Given the description of an element on the screen output the (x, y) to click on. 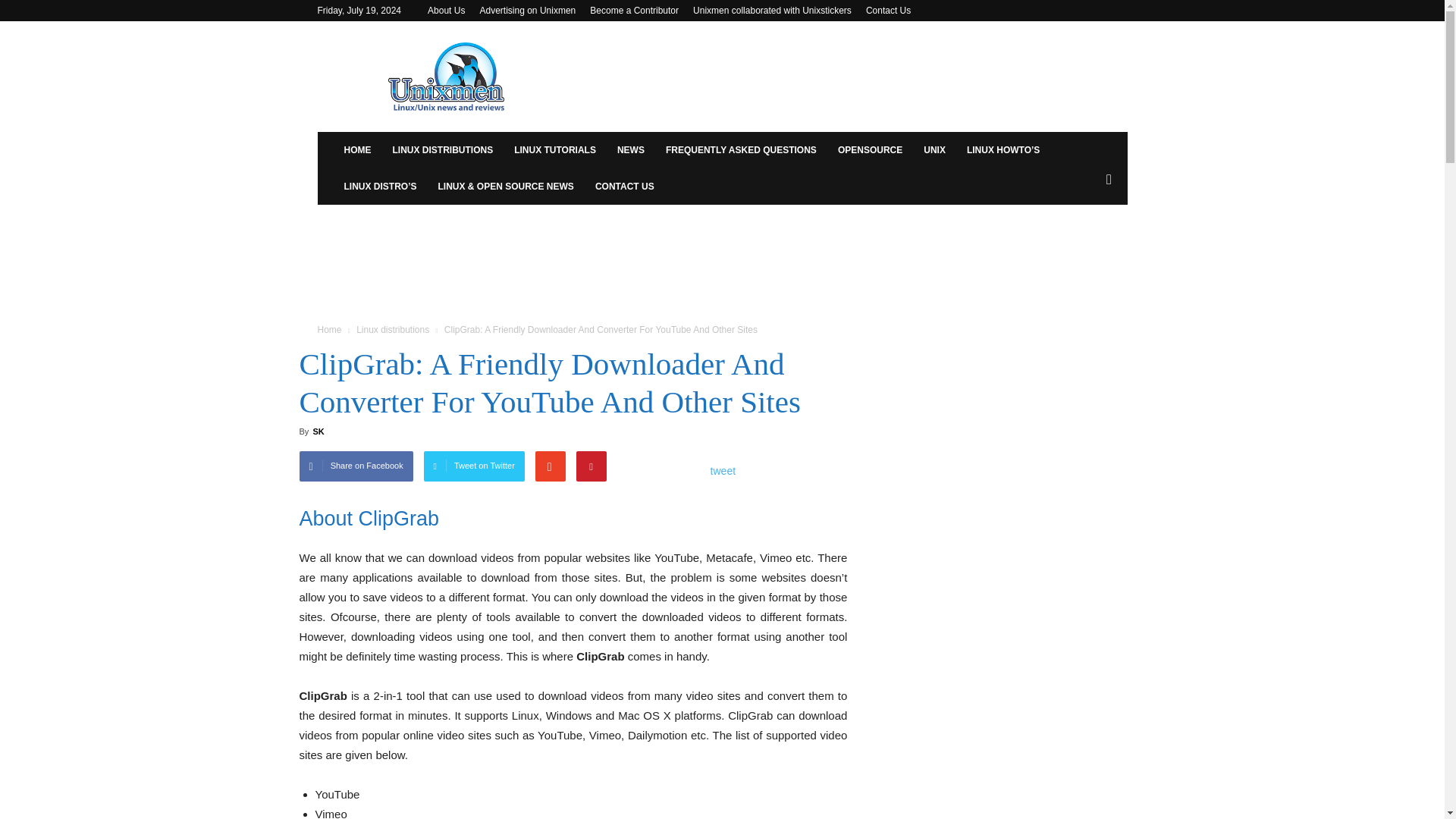
Contact Us (888, 9)
HOME (357, 149)
LINUX DISTRIBUTIONS (442, 149)
LINUX TUTORIALS (555, 149)
About Us (446, 9)
UNIX (934, 149)
Become a Contributor (633, 9)
NEWS (631, 149)
Unixmen (445, 76)
Advertising on Unixmen (527, 9)
View all posts in Linux distributions (392, 329)
OPENSOURCE (869, 149)
FREQUENTLY ASKED QUESTIONS (741, 149)
Unixmen collaborated with Unixstickers (772, 9)
